Given the description of an element on the screen output the (x, y) to click on. 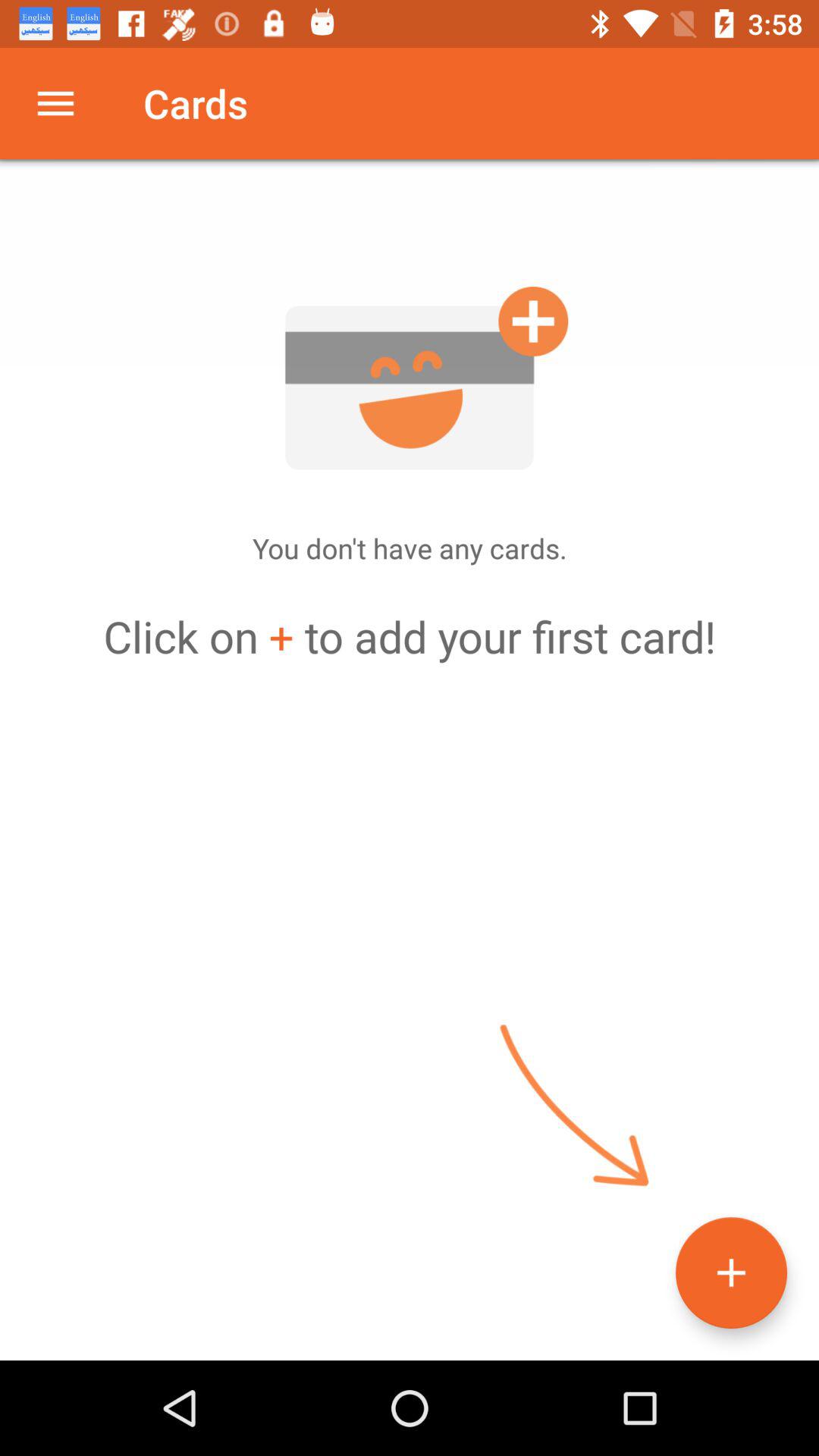
click to add card (409, 377)
